Given the description of an element on the screen output the (x, y) to click on. 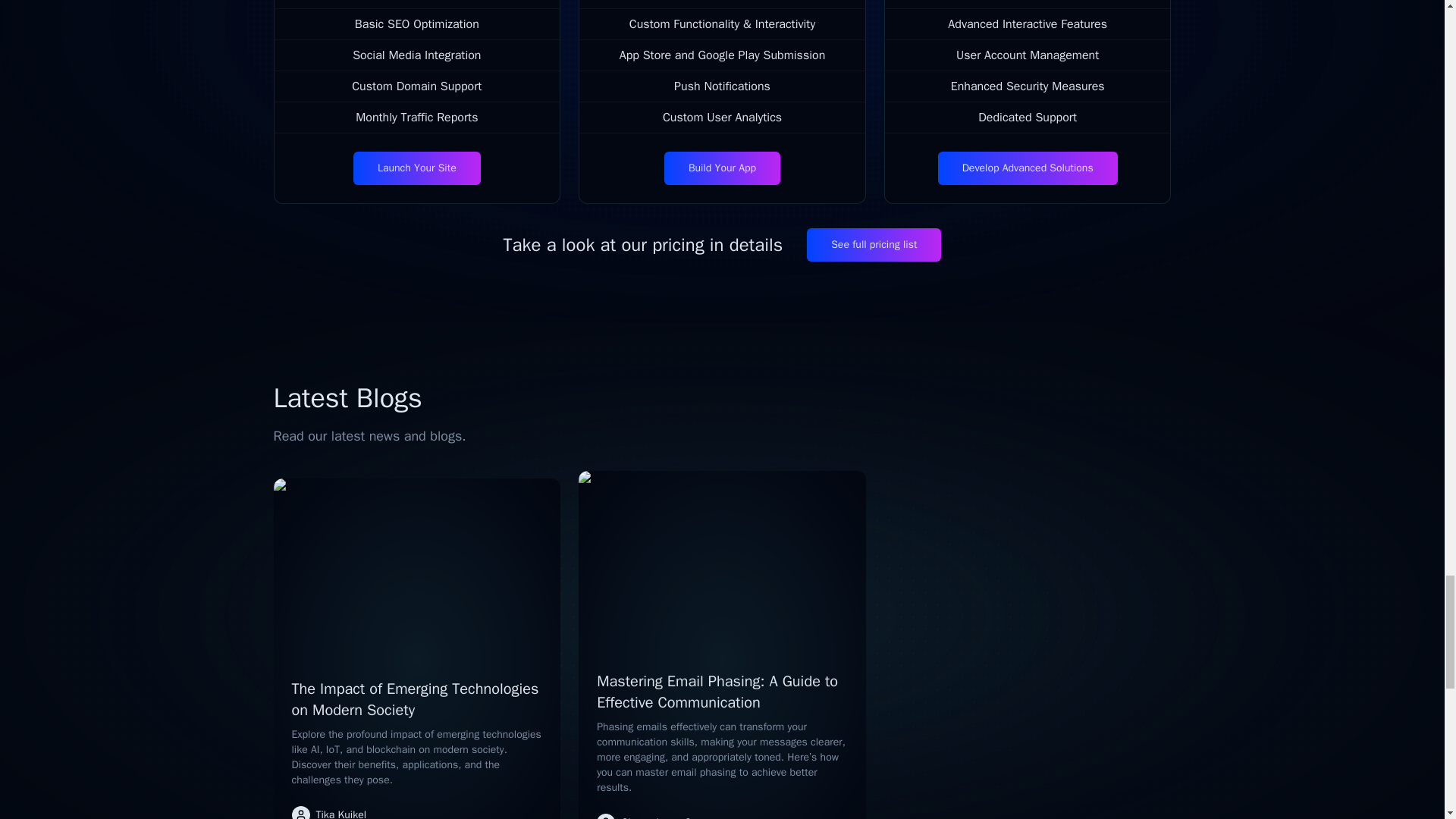
Mastering Email Phasing: A Guide to Effective Communication (717, 691)
Develop Advanced Solutions (1027, 168)
Launch Your Site (416, 168)
See full pricing list (873, 244)
Build Your App (721, 168)
The Impact of Emerging Technologies on Modern Society (414, 699)
